Given the description of an element on the screen output the (x, y) to click on. 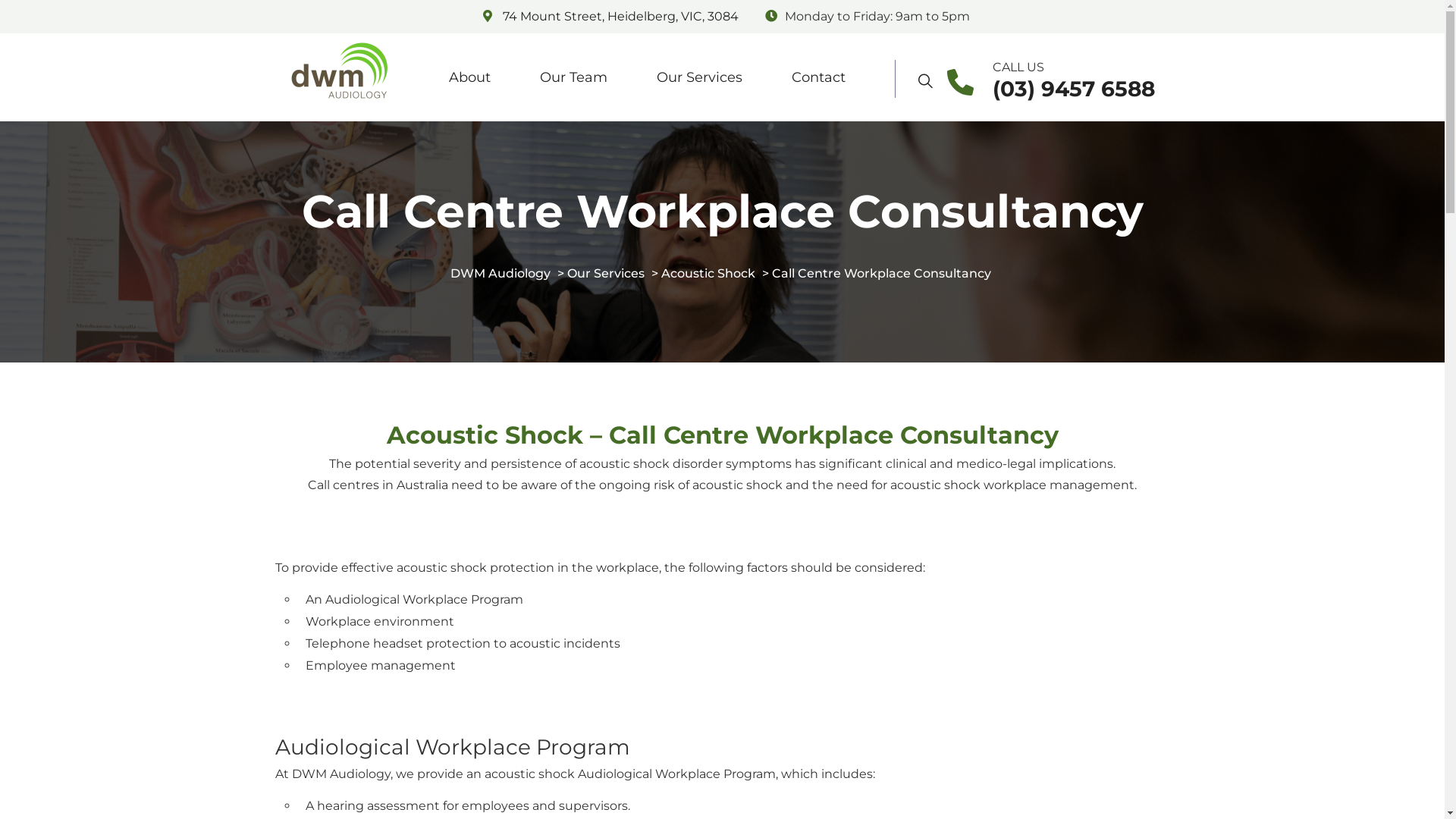
(03) 9457 6588 Element type: text (1072, 88)
74 Mount Street, Heidelberg, VIC, 3084 Element type: text (619, 16)
Our Services Element type: text (704, 76)
Our Services Element type: text (605, 273)
Our Team Element type: text (578, 76)
Acoustic Shock Element type: text (708, 273)
DWM Audiology Element type: text (500, 273)
About Element type: text (475, 76)
Contact Element type: text (823, 76)
